Given the description of an element on the screen output the (x, y) to click on. 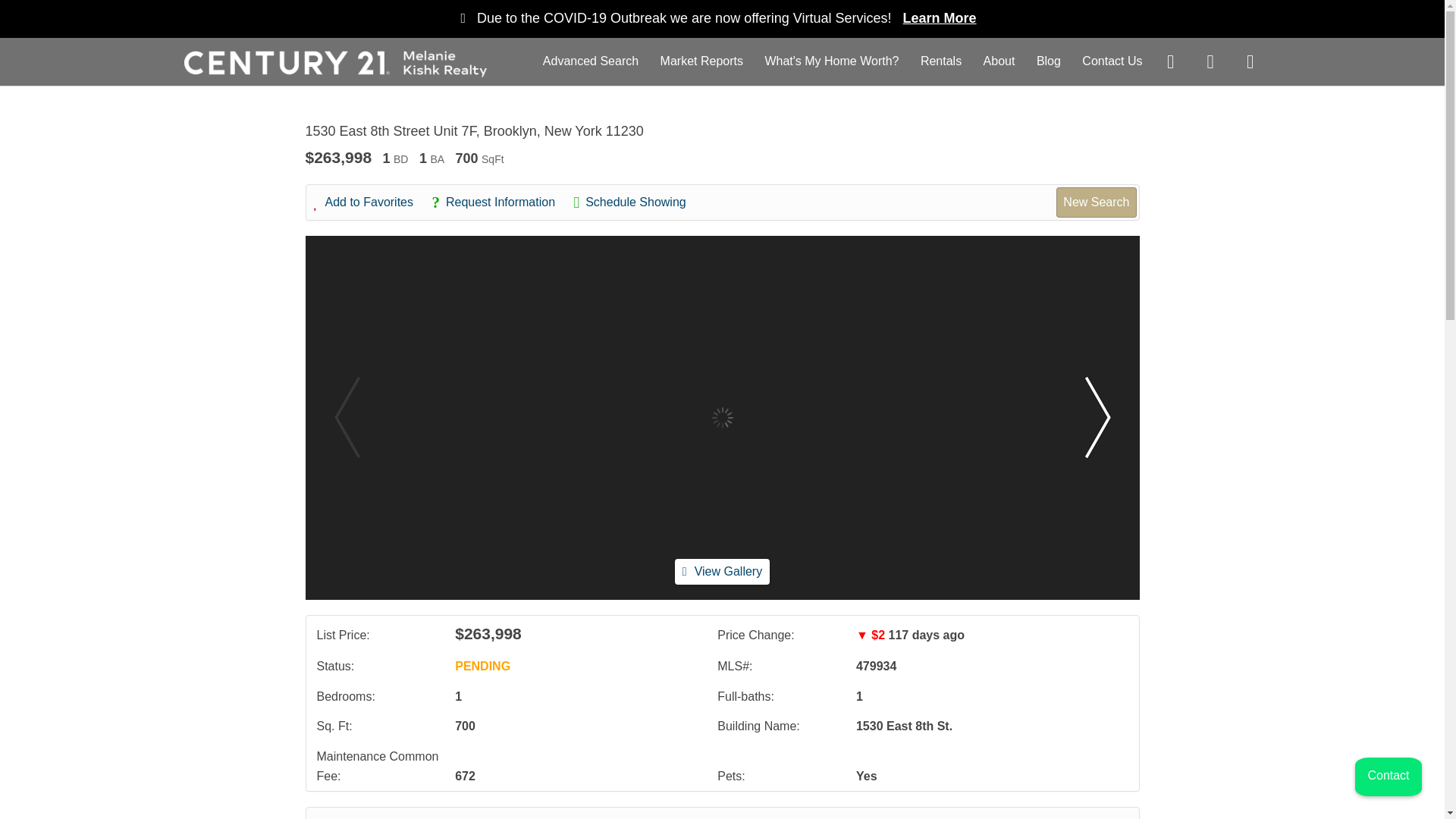
Advanced Search (591, 60)
New Search (1090, 816)
Call Us (437, 816)
What's My Home Worth? (831, 60)
New Search (1096, 202)
Request Information (500, 201)
Market Reports (701, 60)
Blog (1048, 60)
Schedule Showing (636, 201)
Rentals (940, 60)
